Given the description of an element on the screen output the (x, y) to click on. 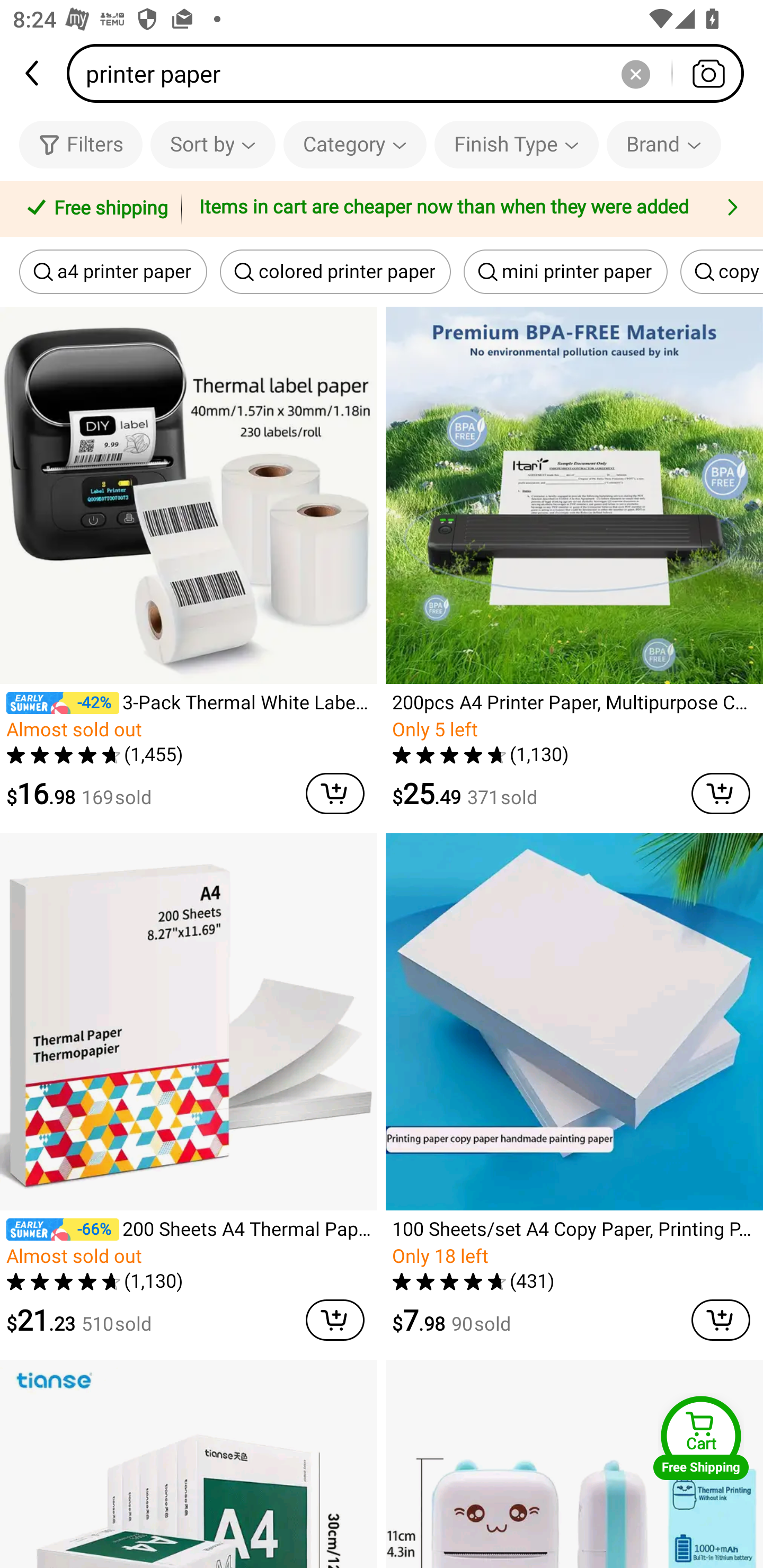
back (33, 72)
printer paper (411, 73)
Delete search history (635, 73)
Search by photo (708, 73)
Filters (80, 143)
Sort by (212, 143)
Category (354, 143)
Finish Type (516, 143)
Brand (663, 143)
 Free shipping (93, 208)
a4 printer paper (113, 271)
colored printer paper (334, 271)
mini printer paper (565, 271)
copy paper (721, 271)
Cart Free Shipping Cart (701, 1437)
